Given the description of an element on the screen output the (x, y) to click on. 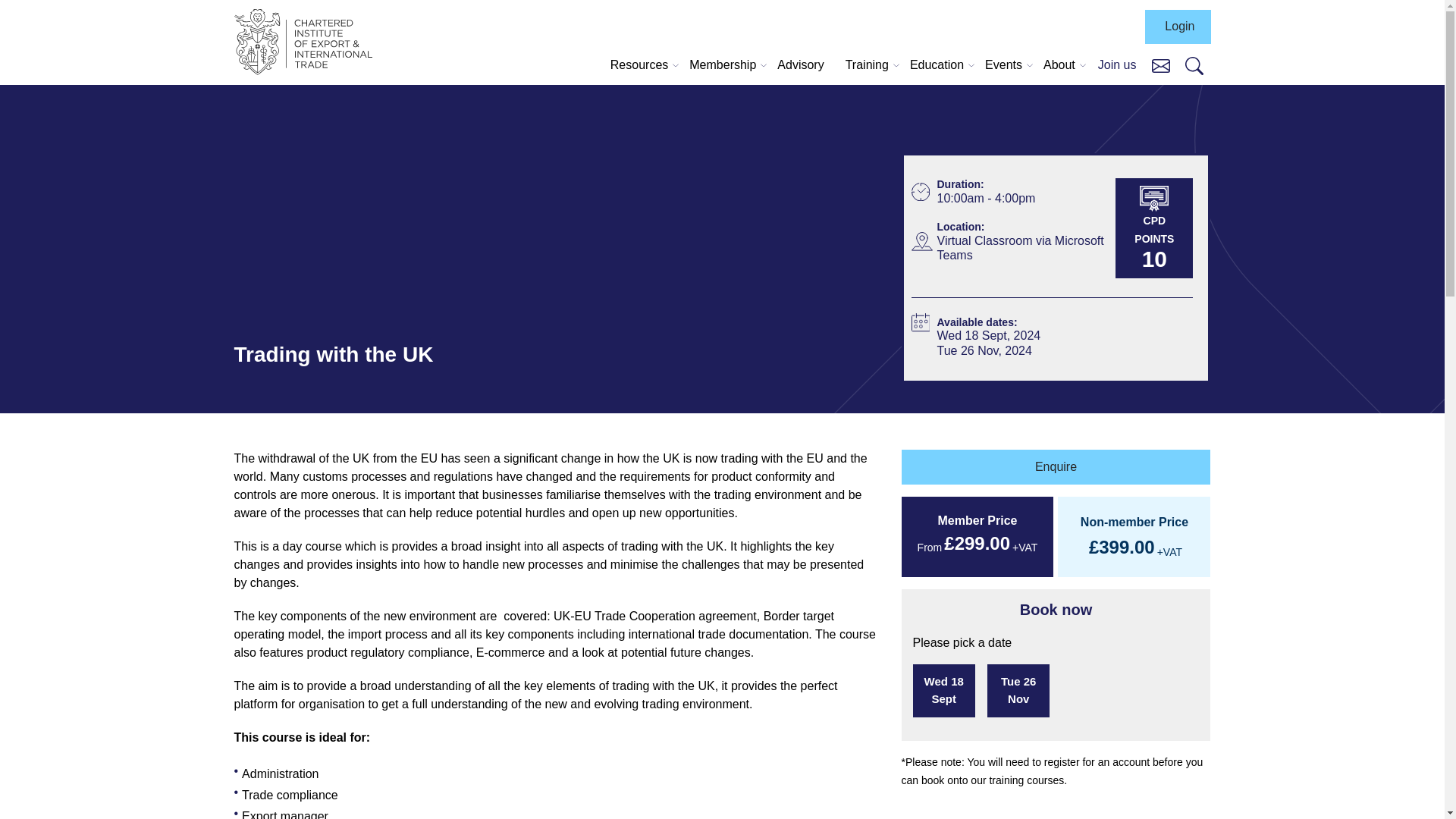
Search (1193, 65)
Login (1176, 26)
Training (867, 65)
About (1059, 65)
Membership (721, 65)
Events (1002, 65)
Education (936, 65)
Advisory (800, 65)
Resources (638, 65)
Contact us (1160, 64)
